Given the description of an element on the screen output the (x, y) to click on. 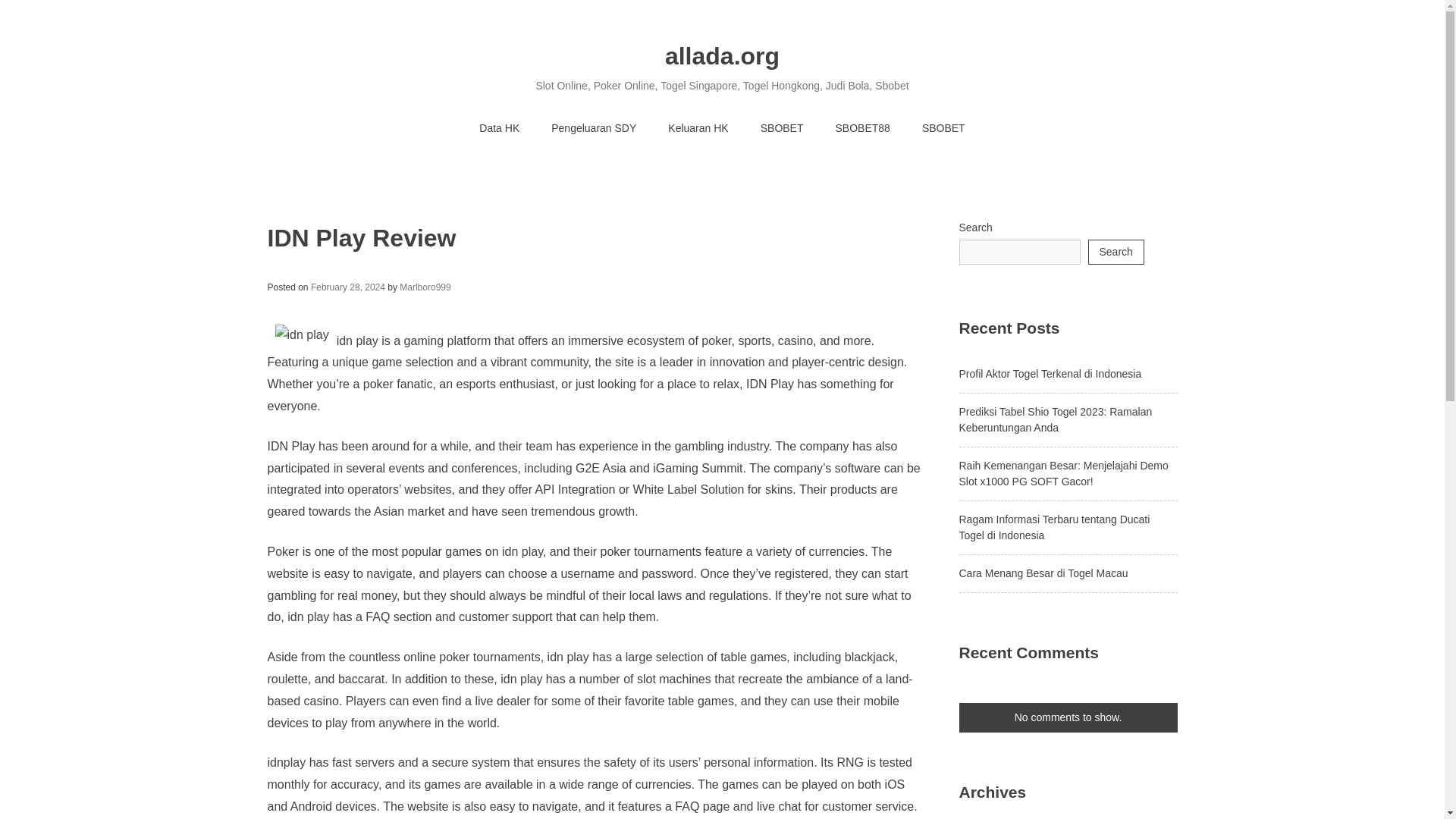
Keluaran HK (698, 128)
SBOBET (943, 128)
Prediksi Tabel Shio Togel 2023: Ramalan Keberuntungan Anda (1054, 419)
SBOBET (781, 128)
Pengeluaran SDY (593, 128)
Search (1114, 251)
February 28, 2024 (348, 286)
Ragam Informasi Terbaru tentang Ducati Togel di Indonesia (1054, 527)
Cara Menang Besar di Togel Macau (1042, 573)
Marlboro999 (423, 286)
Profil Aktor Togel Terkenal di Indonesia (1049, 373)
allada.org (721, 55)
SBOBET88 (861, 128)
Data HK (499, 128)
